Given the description of an element on the screen output the (x, y) to click on. 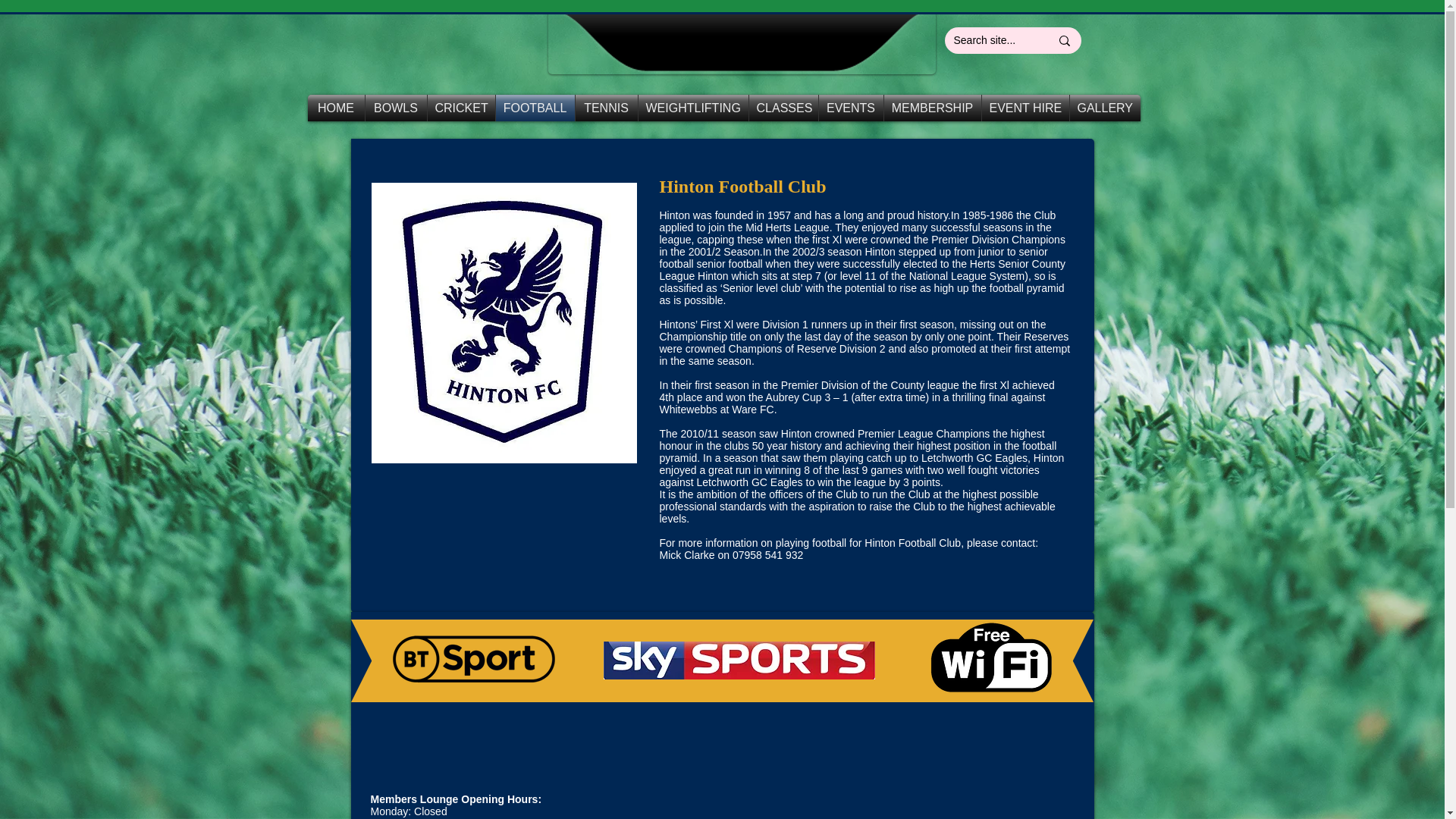
FOOTBALL (535, 108)
BOWLS (395, 108)
EVENTS (850, 108)
MEMBERSHIP (932, 108)
CLASSES (783, 108)
GALLERY (1104, 108)
HOME (336, 108)
CRICKET (461, 108)
TENNIS (606, 108)
WEIGHTLIFTING (693, 108)
EVENT HIRE (1024, 108)
